Given the description of an element on the screen output the (x, y) to click on. 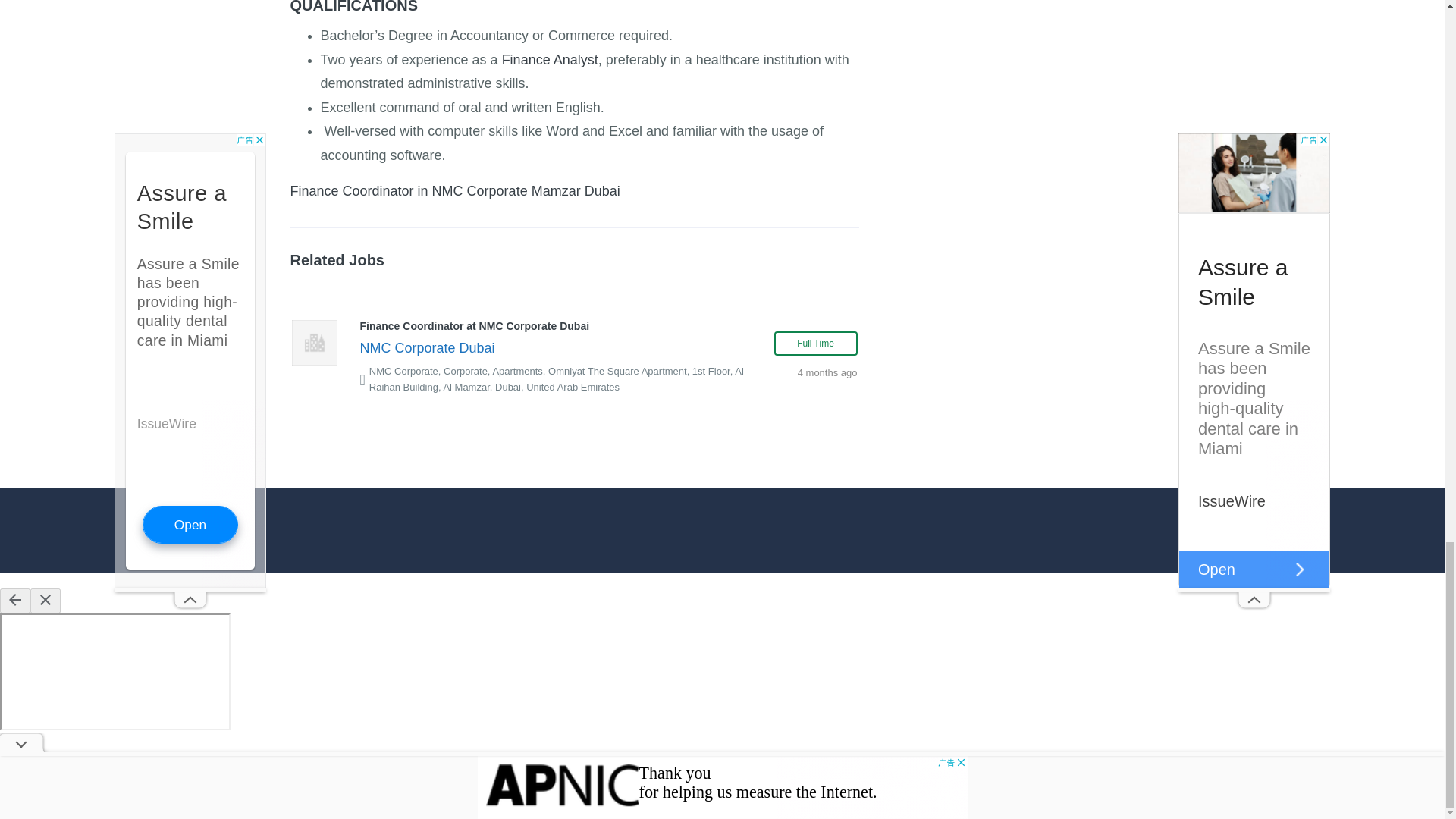
Finance Coordinator in NMC Corporate Mamzar Dubai (454, 191)
Finance Analyst (550, 59)
